Given the description of an element on the screen output the (x, y) to click on. 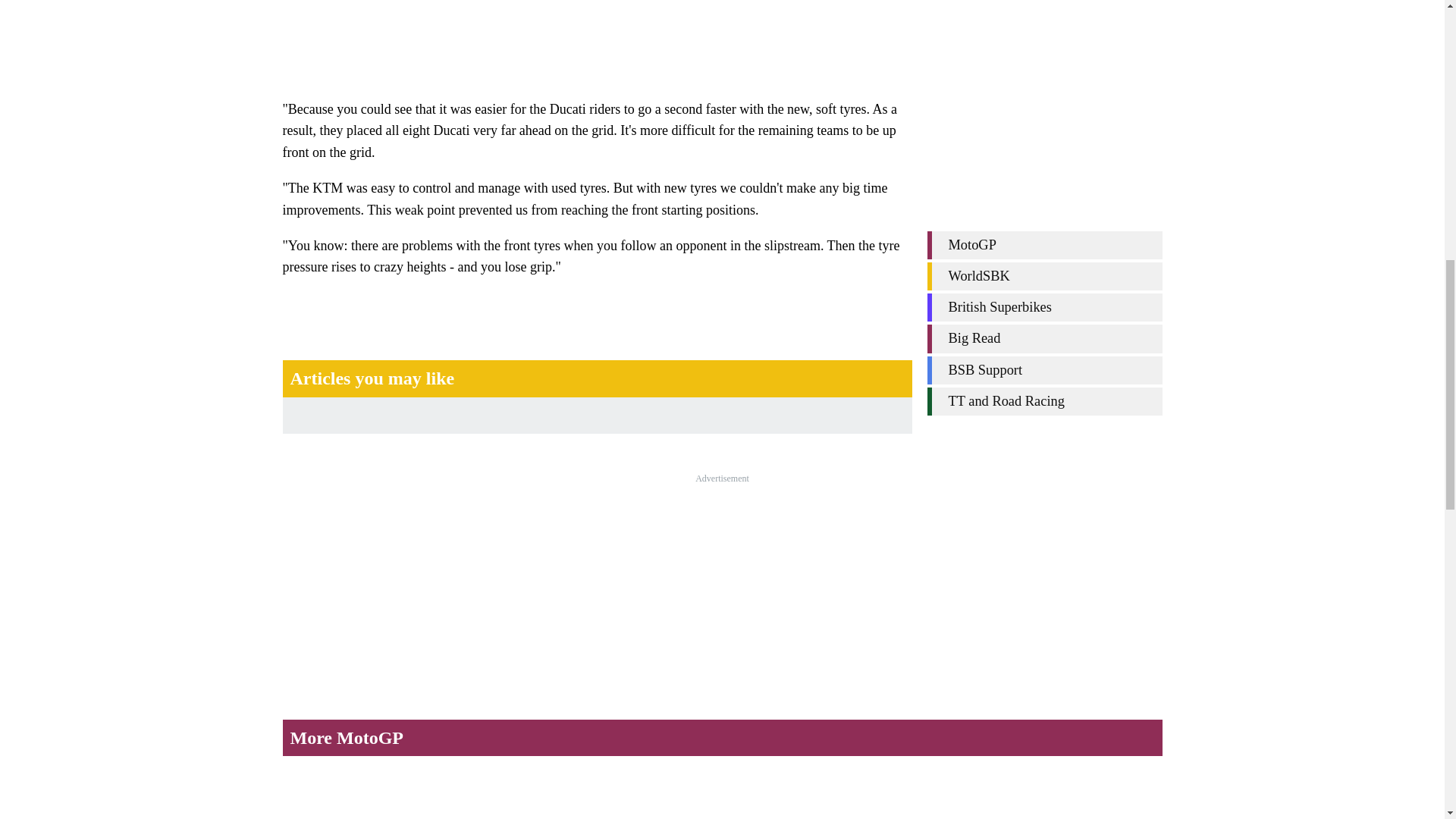
Yamaha Retains Alex Rins on Two-Year MotoGP Contract (1057, 794)
BSB Support (1043, 246)
British Superbikes (1043, 183)
MotoGP (1043, 121)
Big Read (1043, 214)
TT and Road Racing (1043, 277)
WorldSBK (1043, 152)
